Given the description of an element on the screen output the (x, y) to click on. 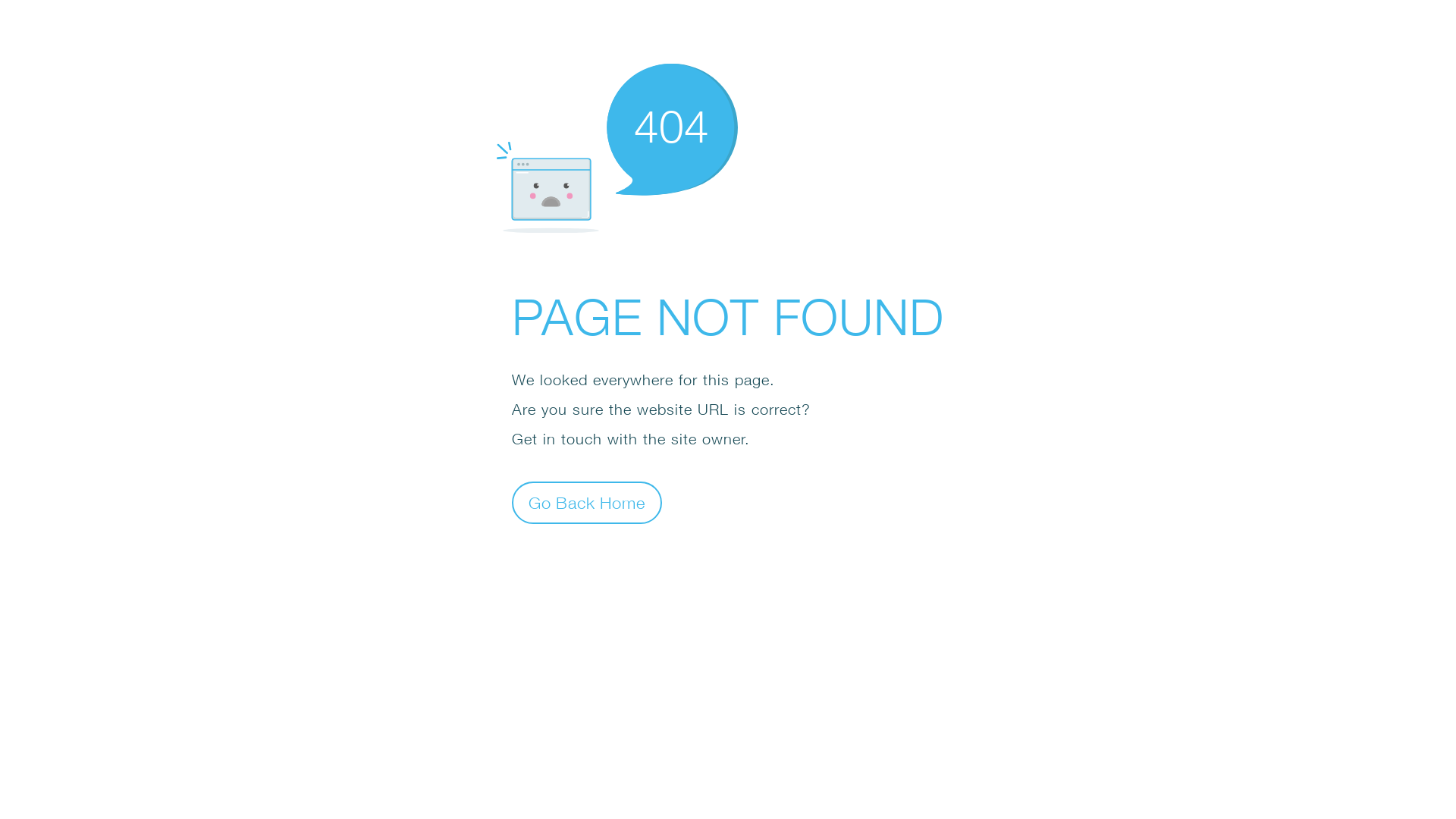
Go Back Home Element type: text (586, 502)
